Given the description of an element on the screen output the (x, y) to click on. 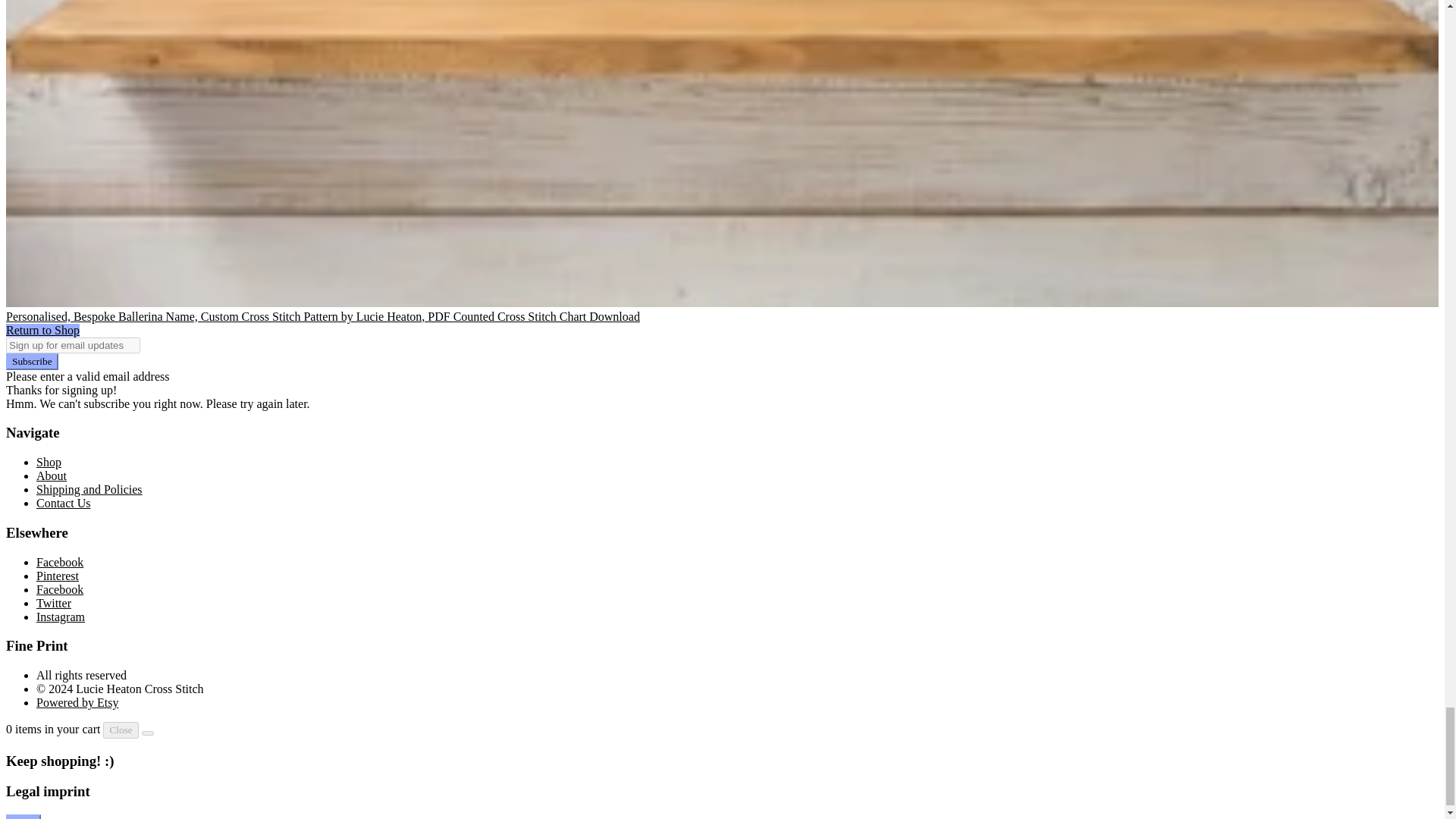
Facebook (59, 562)
Subscribe (31, 361)
Contact Us (63, 502)
Shop (48, 461)
Instagram (60, 616)
Facebook (59, 589)
Close (120, 729)
About (51, 475)
Powered by Etsy (76, 702)
Twitter (53, 603)
